Given the description of an element on the screen output the (x, y) to click on. 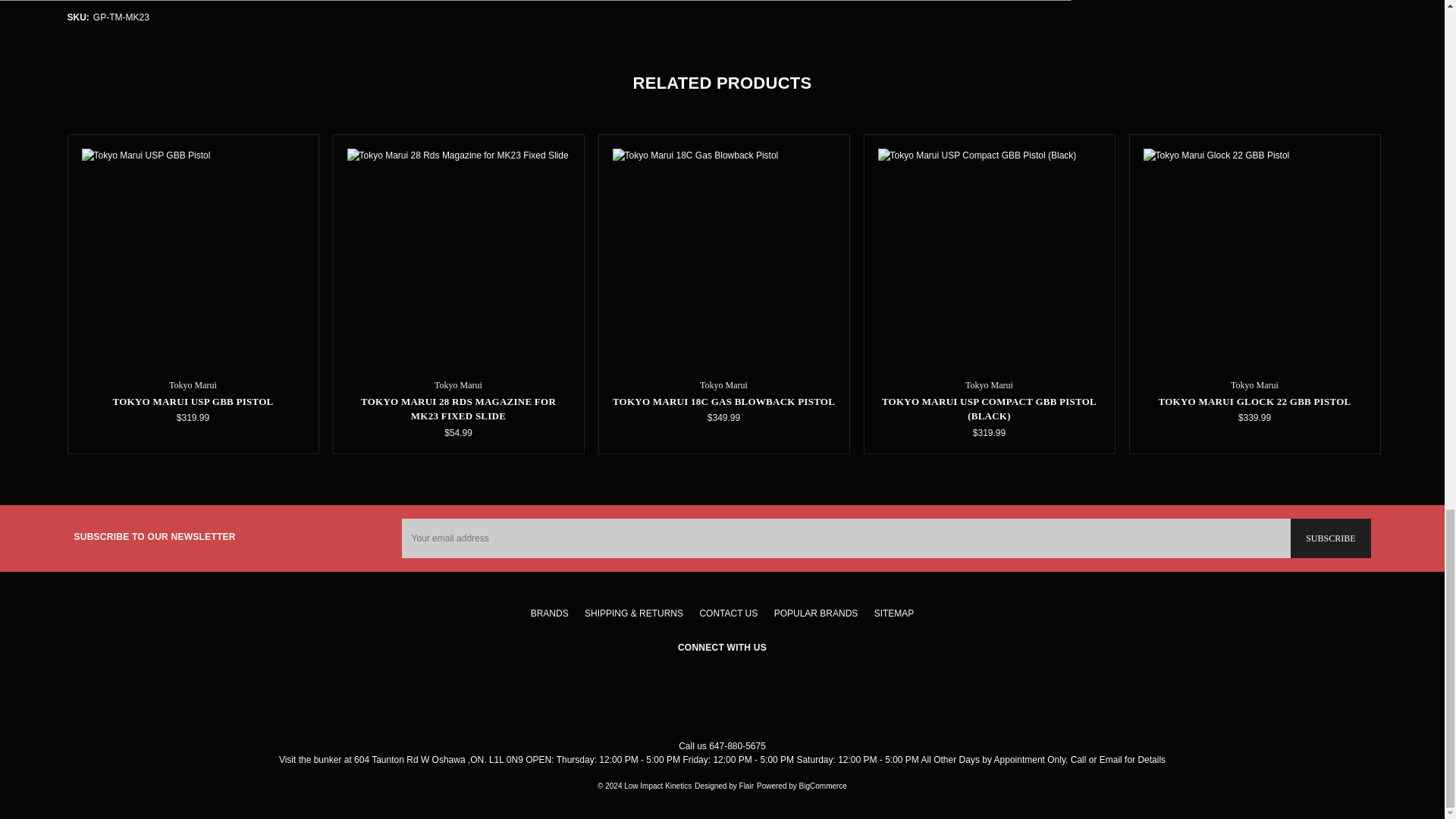
Tokyo Marui 18C Gas Blowback Pistol (723, 259)
Subscribe (1330, 537)
Tokyo Marui USP GBB Pistol (192, 259)
Tokyo Marui Glock 22 GBB Pistol (1254, 259)
Tokyo Marui 28 Rds Magazine for MK23 Fixed Slide (458, 259)
